Given the description of an element on the screen output the (x, y) to click on. 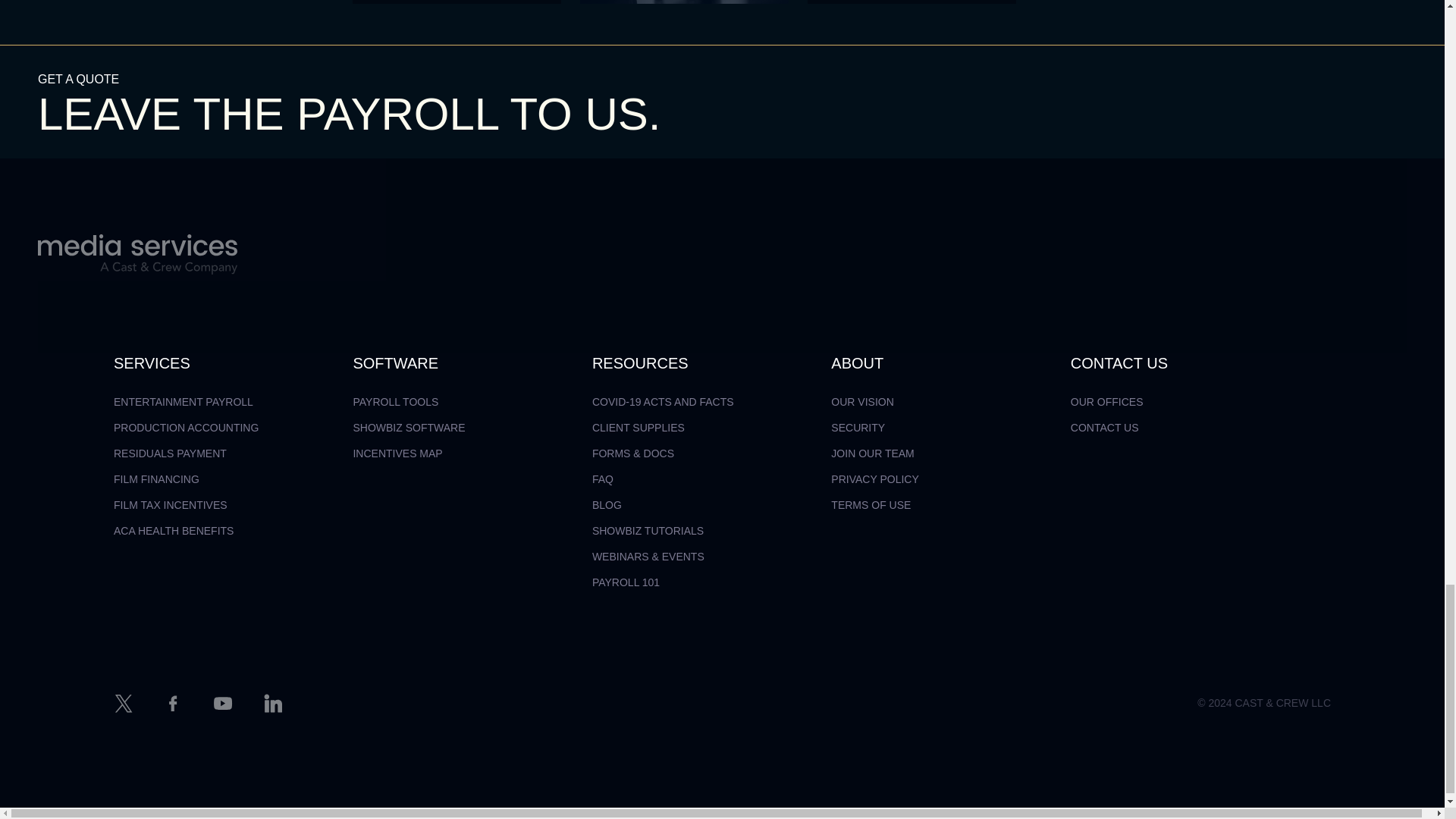
VFX for Independent Filmmakers: Movie Magic on a Budget (912, 2)
MediaWeb: Simplified Production Accounting (456, 2)
